Given the description of an element on the screen output the (x, y) to click on. 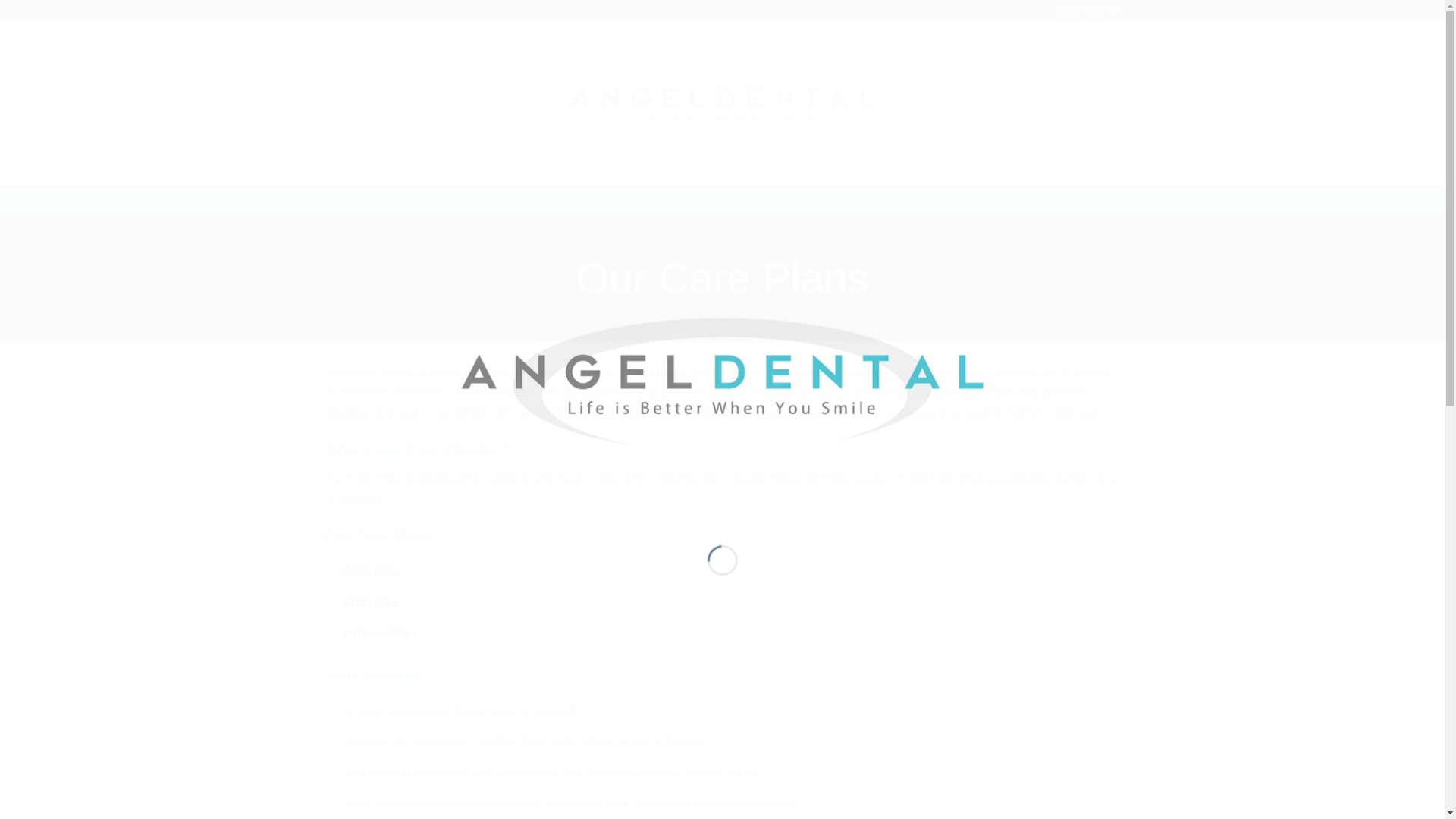
01326 560730 (1082, 11)
01326 560730 (1082, 11)
Angel Dental - Independent Dentist in Helston Cornwall UK (722, 103)
Hygiene Plan (378, 631)
Angel Dental - Independent Dentist in Helston Cornwall UK (722, 381)
OUR CARE PLANS (786, 199)
HOME (563, 199)
FEE GUIDE (868, 199)
CONTACT US (694, 199)
Adult plan (369, 570)
